Given the description of an element on the screen output the (x, y) to click on. 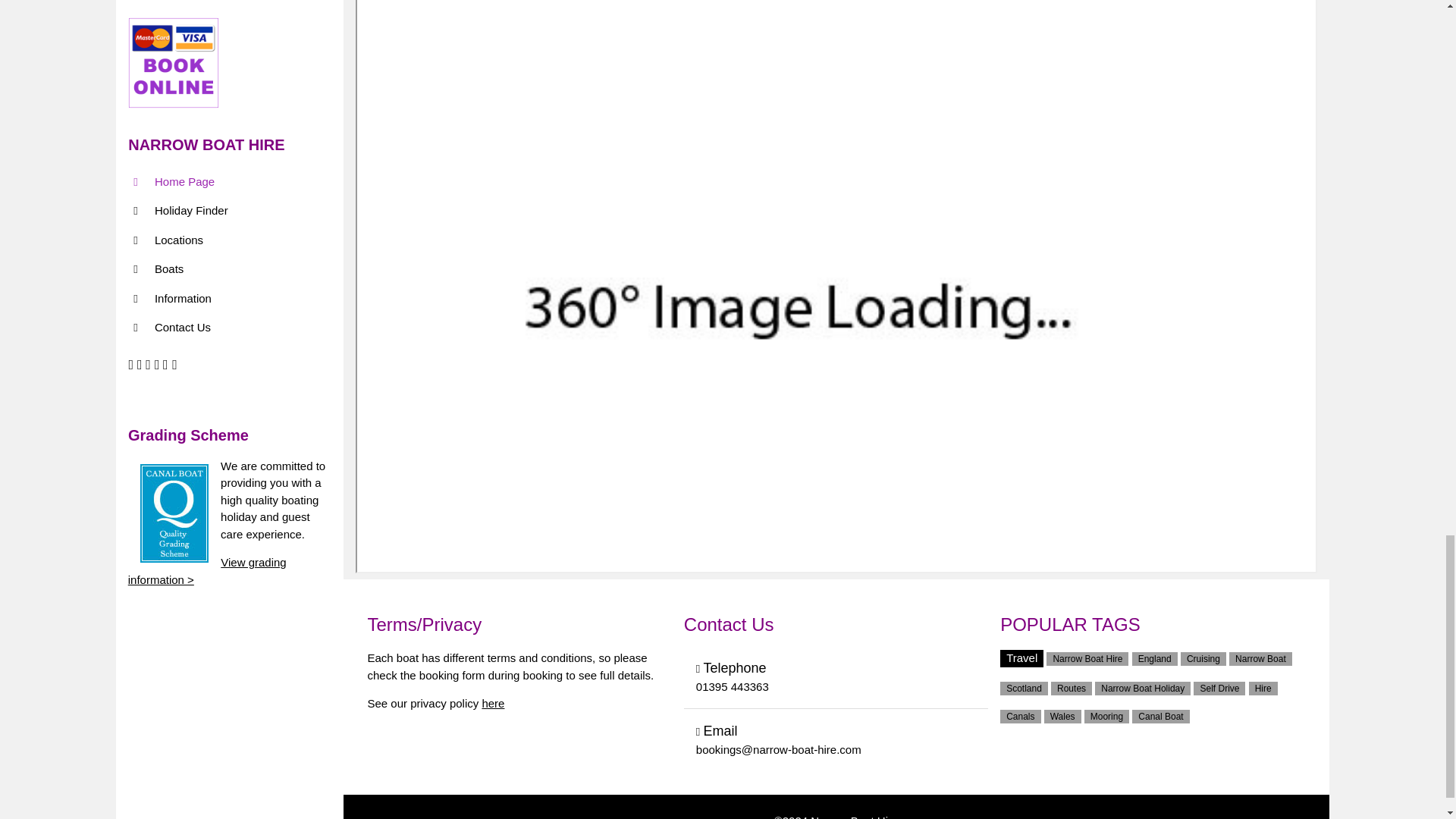
Narrow Boat Hire (854, 816)
here (492, 703)
